Given the description of an element on the screen output the (x, y) to click on. 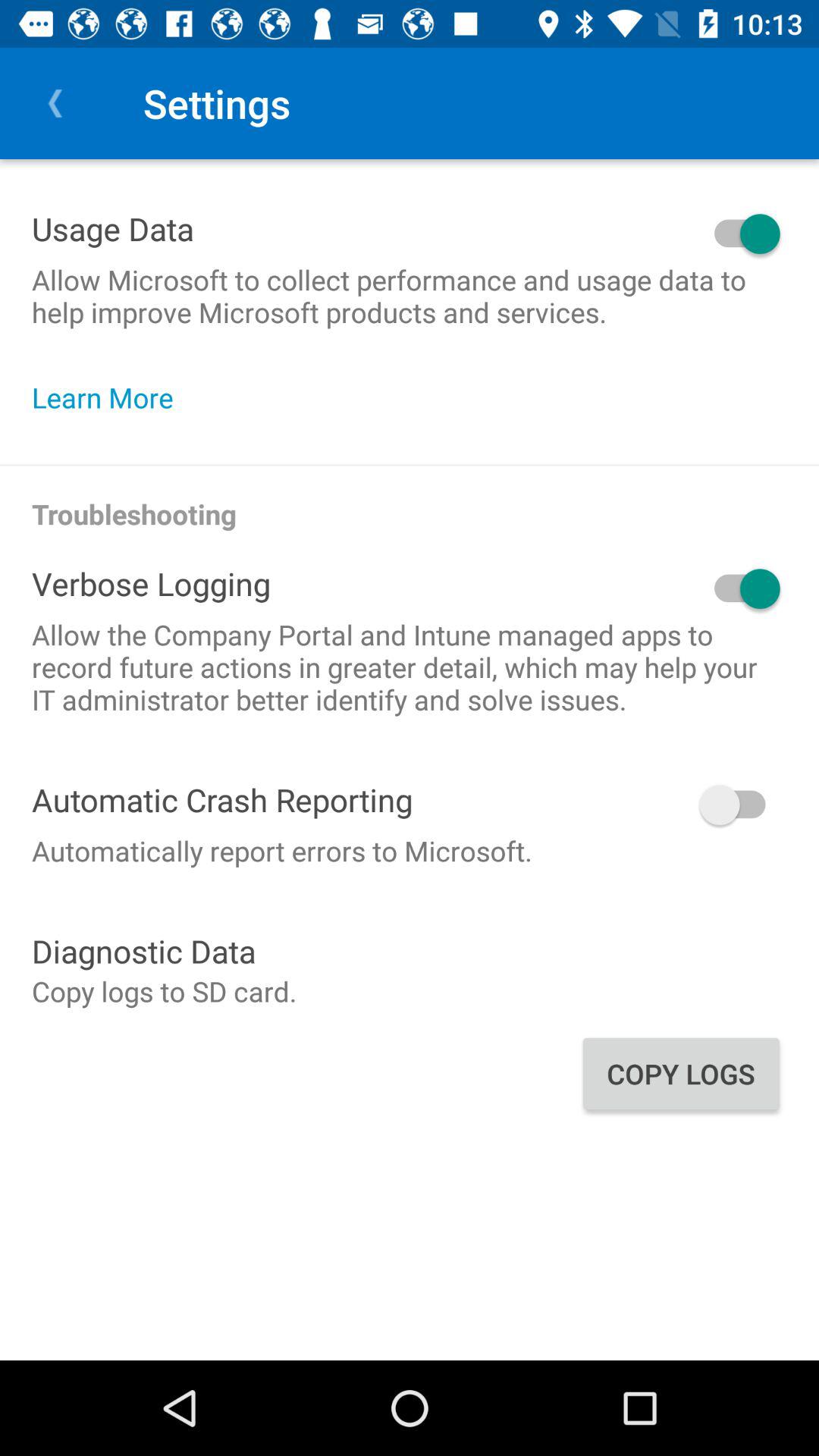
press item above the usage data item (55, 103)
